Given the description of an element on the screen output the (x, y) to click on. 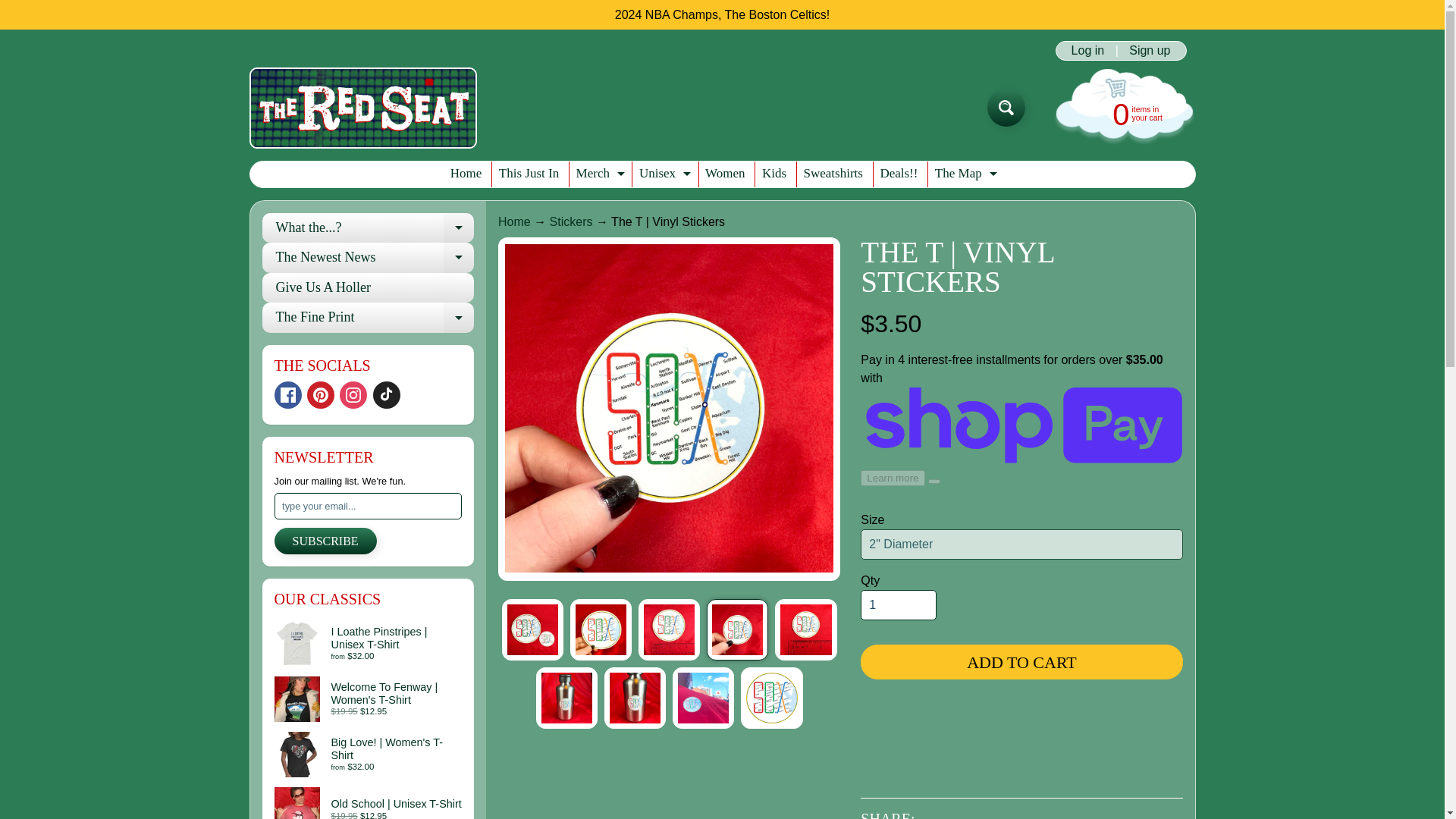
SKIP TO CONTENT (964, 174)
The Red Seat (22, 8)
Back to the home page (362, 107)
Deals!! (514, 221)
Search (898, 174)
Sweatshirts (1006, 107)
Log in (832, 174)
Kids (1088, 50)
Instagram (773, 174)
1 (352, 394)
SEARCH (898, 604)
This Just In (1006, 107)
